Given the description of an element on the screen output the (x, y) to click on. 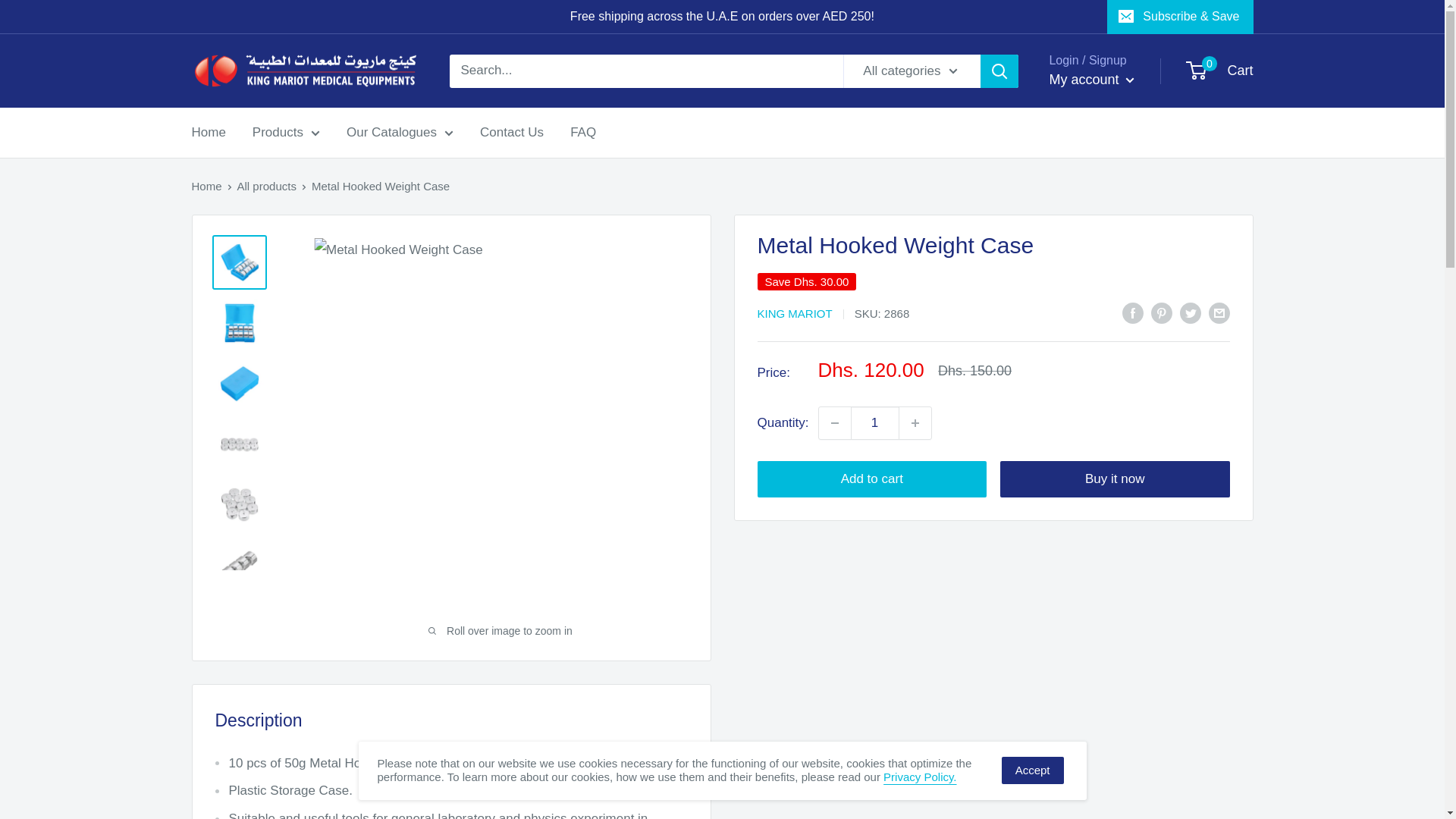
Increase quantity by 1 (915, 422)
1 (874, 422)
Privacy Policy (919, 776)
Decrease quantity by 1 (834, 422)
